Given the description of an element on the screen output the (x, y) to click on. 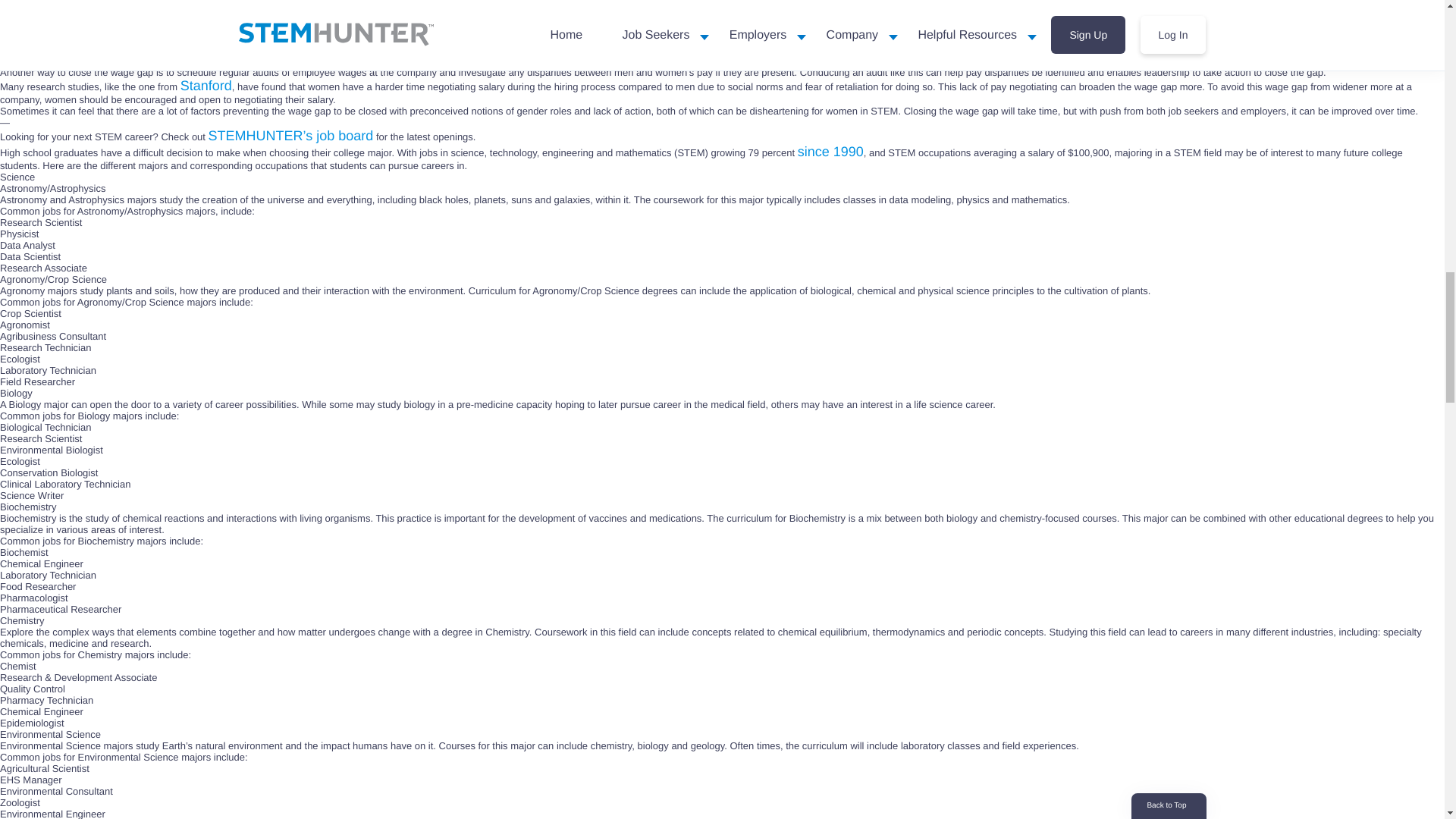
since 1990 (830, 151)
U.S. Department of Commerce (832, 17)
Stanford (205, 84)
